Given the description of an element on the screen output the (x, y) to click on. 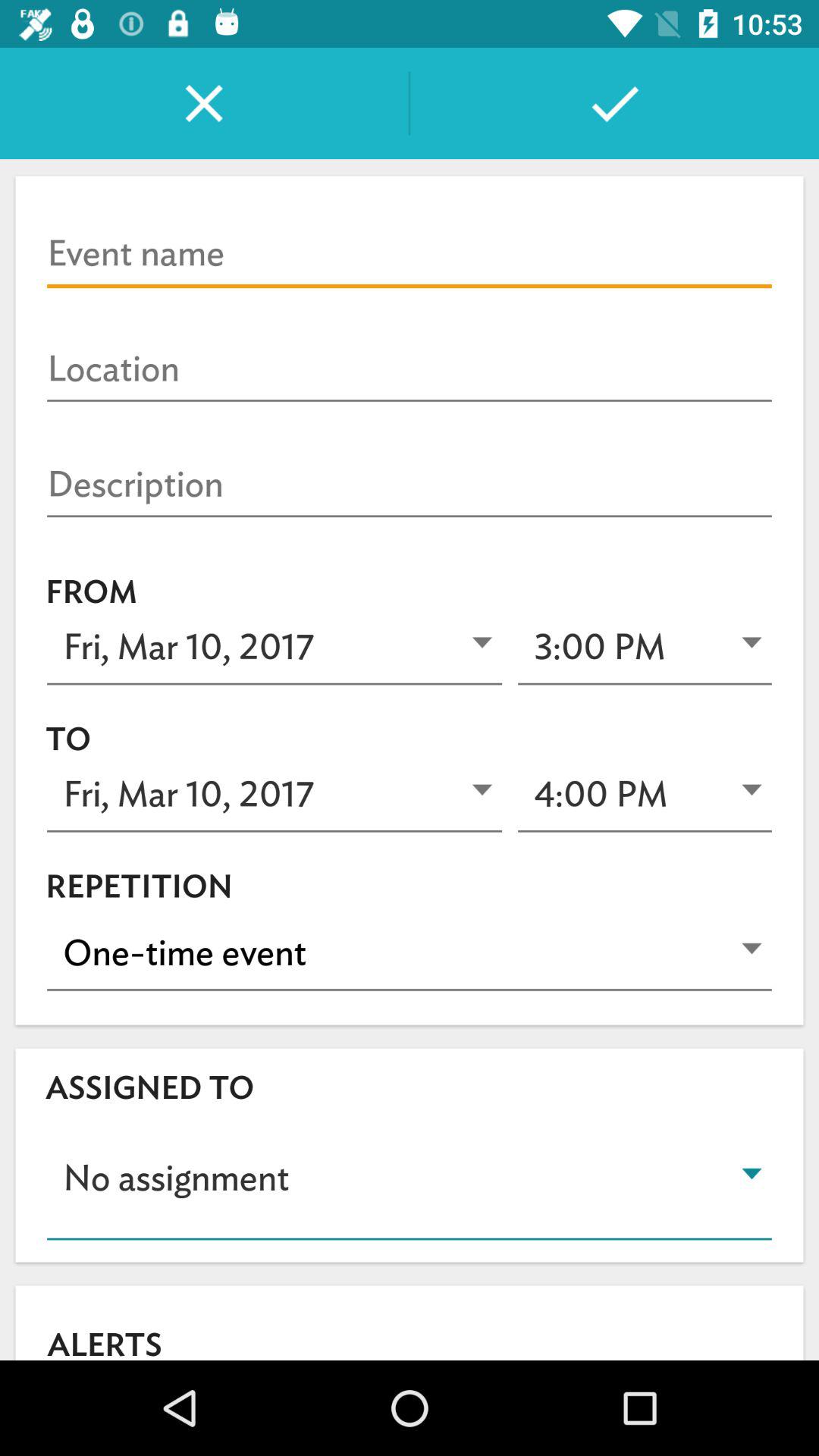
jump until the one-time event item (409, 953)
